Given the description of an element on the screen output the (x, y) to click on. 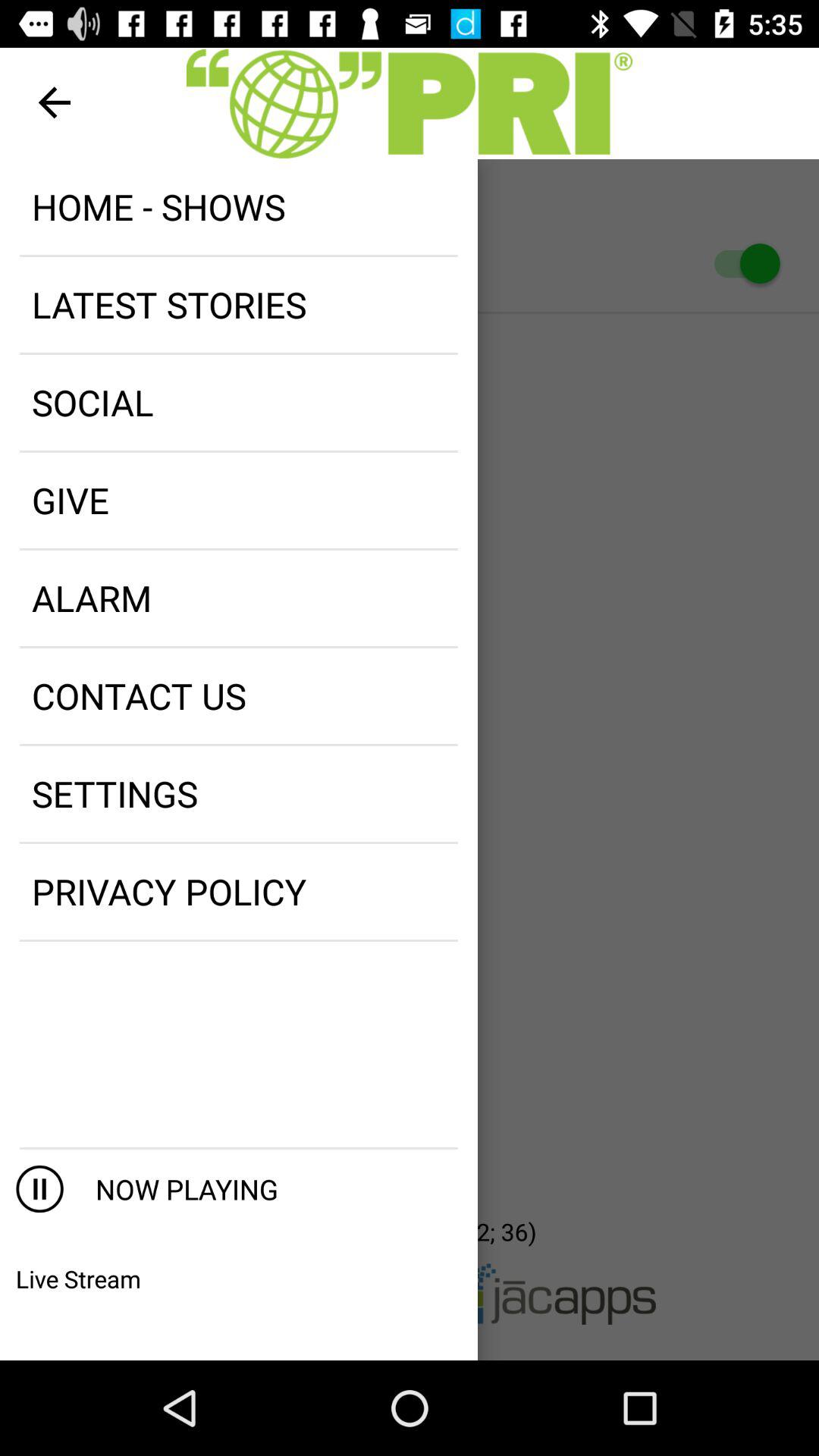
click on now playing (270, 1189)
